Given the description of an element on the screen output the (x, y) to click on. 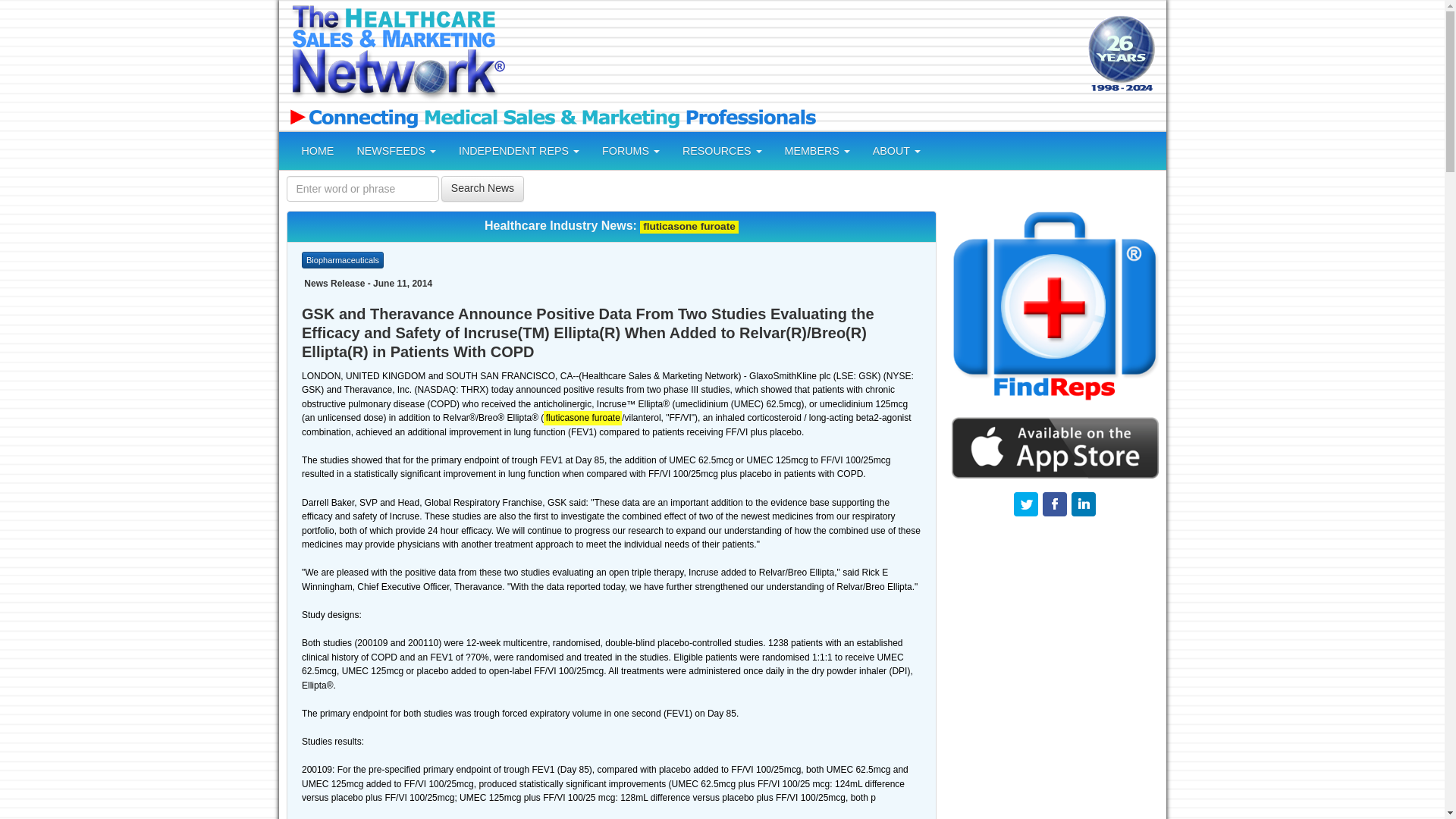
INDEPENDENT REPS  (518, 150)
RESOURCES  (722, 150)
Advertisement (794, 55)
HOME (317, 150)
Search News (482, 188)
NEWSFEEDS  (395, 150)
FORUMS  (631, 150)
